Given the description of an element on the screen output the (x, y) to click on. 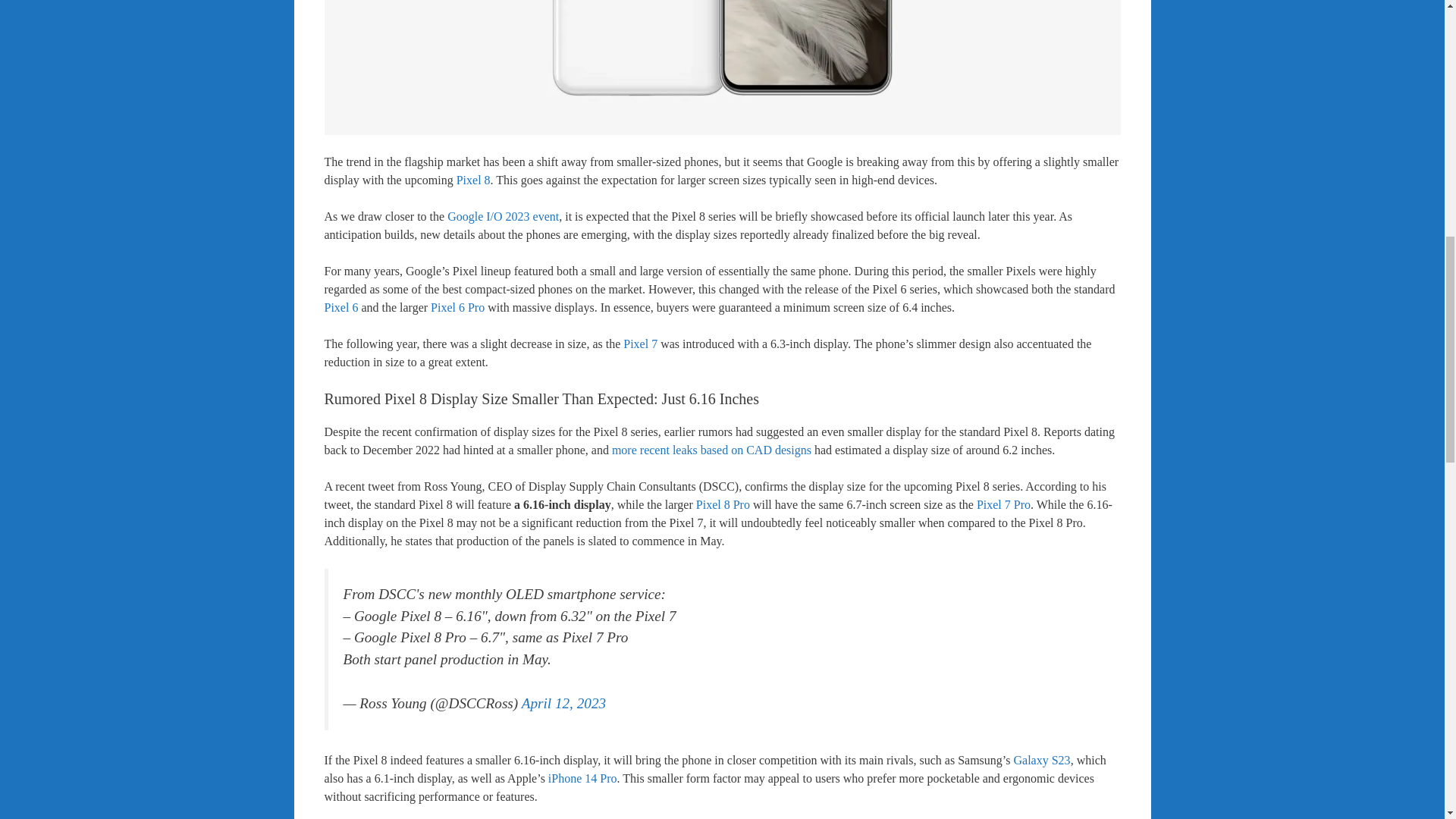
Pixel 7 (640, 343)
Pixel 7 Pro (1003, 504)
more recent leaks based on CAD designs (710, 449)
April 12, 2023 (563, 703)
Pixel 6 Pro (457, 307)
Galaxy S23 (1041, 759)
Pixel 8 (473, 179)
Pixel 8 Pro (722, 504)
iPhone 14 Pro (582, 778)
Pixel 6 (341, 307)
